Given the description of an element on the screen output the (x, y) to click on. 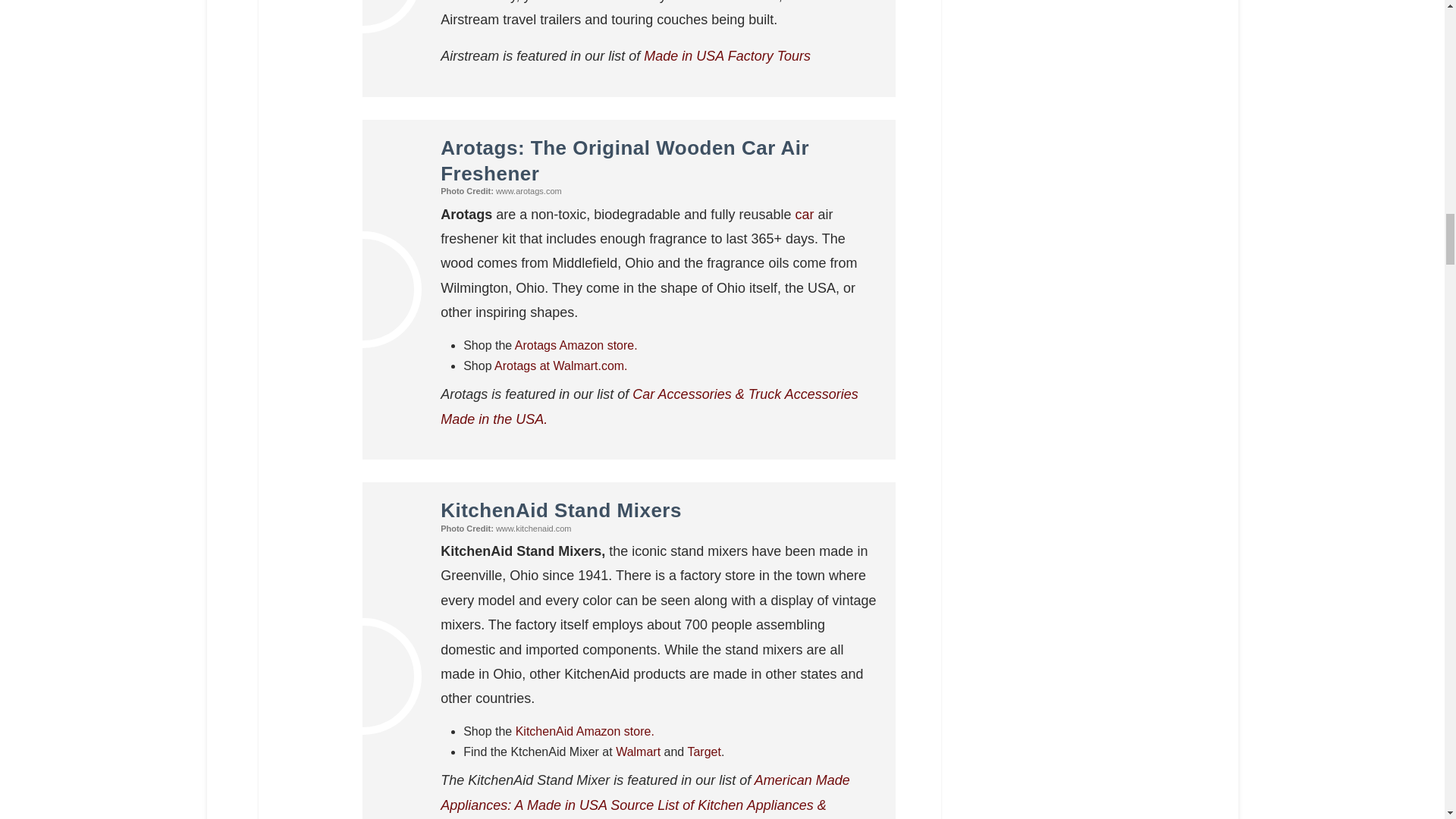
Cars (803, 214)
